Given the description of an element on the screen output the (x, y) to click on. 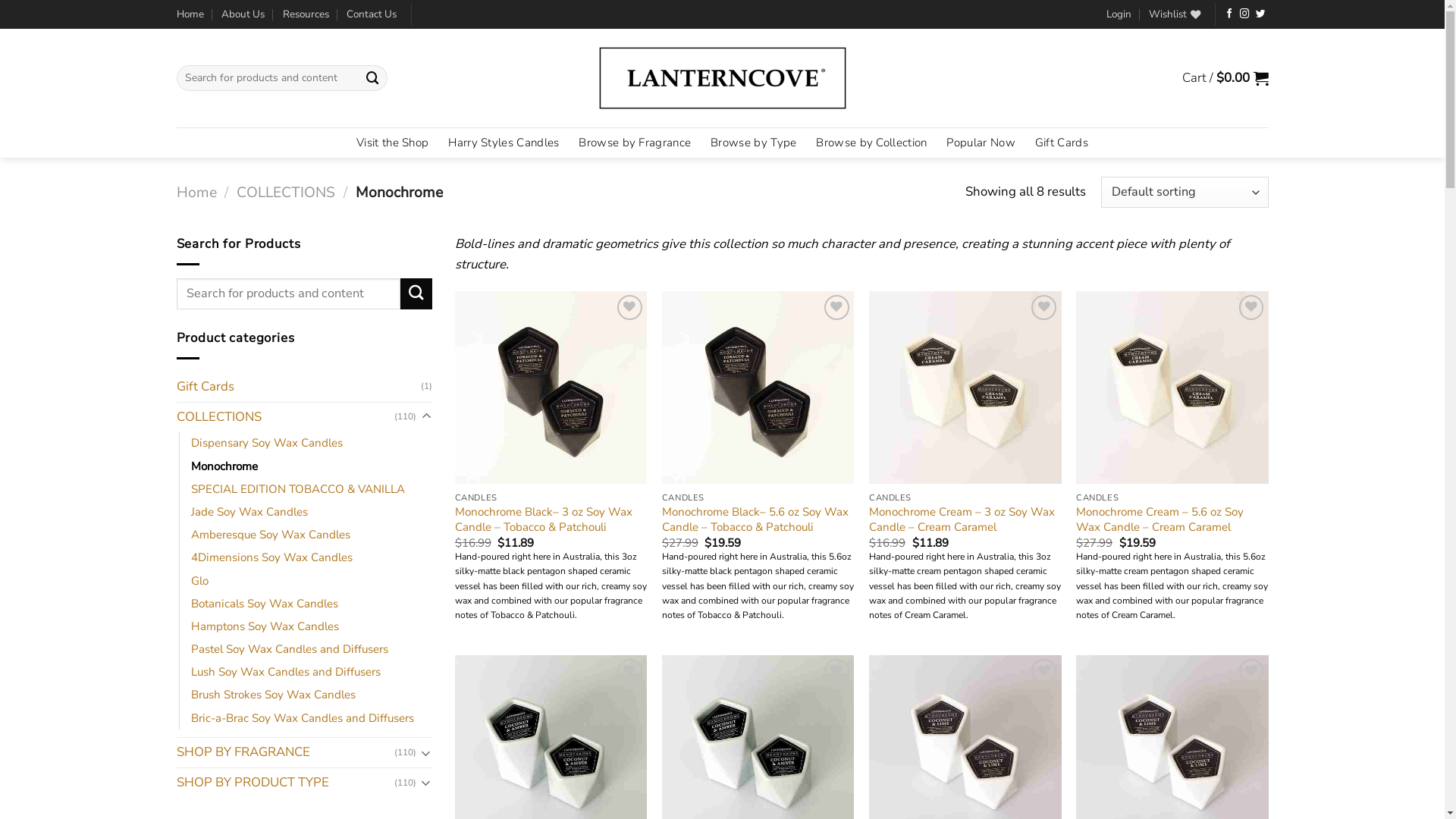
Hamptons Soy Wax Candles Element type: text (264, 626)
4Dimensions Soy Wax Candles Element type: text (271, 557)
Glo Element type: text (199, 580)
Visit the Shop Element type: text (392, 142)
SHOP BY PRODUCT TYPE Element type: text (284, 782)
Monochrome Element type: text (224, 466)
Wishlist Element type: text (1174, 14)
Pastel Soy Wax Candles and Diffusers Element type: text (289, 648)
Home Element type: text (189, 14)
COLLECTIONS Element type: text (285, 192)
Browse by Type Element type: text (753, 142)
SPECIAL EDITION TOBACCO & VANILLA Element type: text (297, 488)
Contact Us Element type: text (371, 14)
Login Element type: text (1118, 14)
Harry Styles Candles Element type: text (503, 142)
Lush Soy Wax Candles and Diffusers Element type: text (285, 671)
Browse by Fragrance Element type: text (634, 142)
SHOP BY FRAGRANCE Element type: text (284, 752)
COLLECTIONS Element type: text (284, 417)
Resources Element type: text (305, 14)
Brush Strokes Soy Wax Candles Element type: text (273, 694)
Cart / $0.00 Element type: text (1224, 77)
Amberesque Soy Wax Candles Element type: text (270, 534)
Bric-a-Brac Soy Wax Candles and Diffusers Element type: text (302, 717)
Browse by Collection Element type: text (870, 142)
Home Element type: text (195, 192)
Gift Cards Element type: text (297, 386)
Popular Now Element type: text (980, 142)
Botanicals Soy Wax Candles Element type: text (264, 603)
Jade Soy Wax Candles Element type: text (249, 511)
About Us Element type: text (242, 14)
Gift Cards Element type: text (1061, 142)
Dispensary Soy Wax Candles Element type: text (266, 442)
Search Element type: text (416, 293)
Search Element type: text (371, 77)
